Given the description of an element on the screen output the (x, y) to click on. 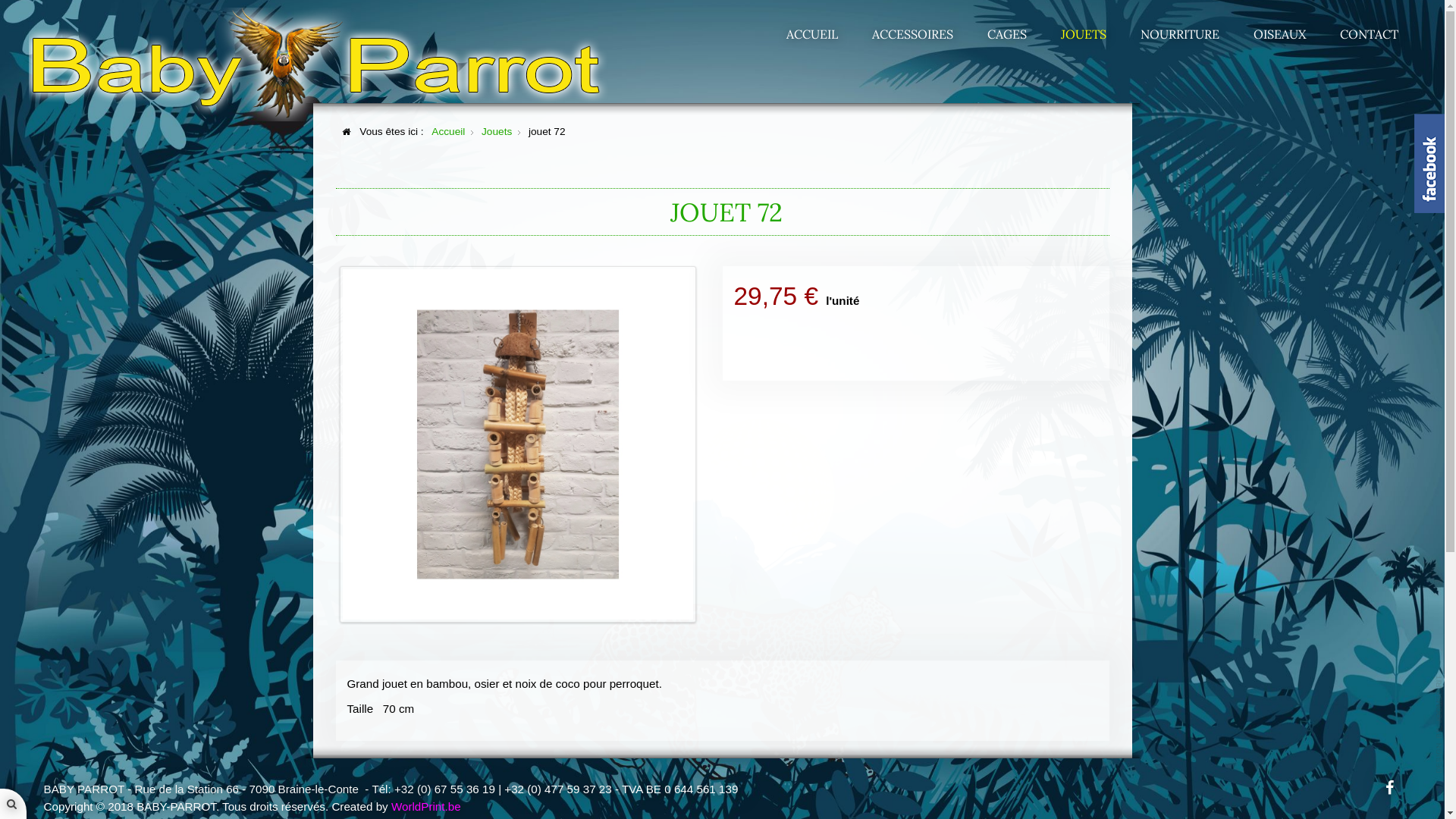
NOURRITURE Element type: text (1179, 34)
OISEAUX Element type: text (1279, 34)
WorldPrint.be Element type: text (426, 806)
ACCESSOIRES Element type: text (912, 34)
JOUETS Element type: text (1083, 34)
CAGES Element type: text (1006, 34)
template-joomspirit.com Element type: text (1439, 723)
Jouets Element type: text (496, 131)
Facebook Element type: hover (1388, 786)
ACCUEIL Element type: text (811, 34)
Accueil Element type: text (447, 131)
CONTACT Element type: text (1369, 34)
